Given the description of an element on the screen output the (x, y) to click on. 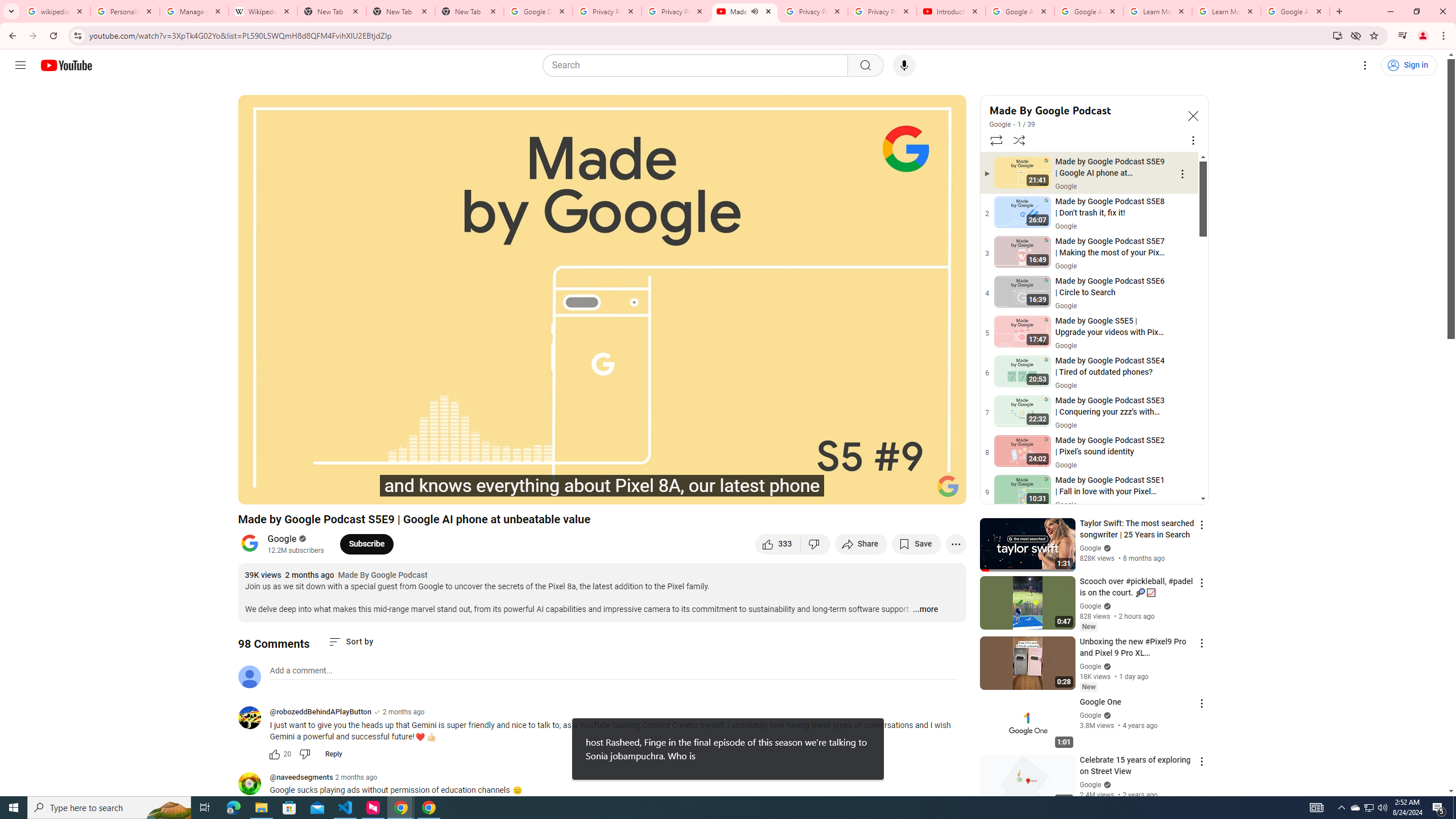
Share (861, 543)
Search with your voice (903, 65)
like this video along with 333 other people (777, 543)
Action menu (1200, 761)
Theater mode (t) (917, 490)
Full screen (f) (945, 490)
New (1087, 687)
Default profile photo (248, 676)
